Given the description of an element on the screen output the (x, y) to click on. 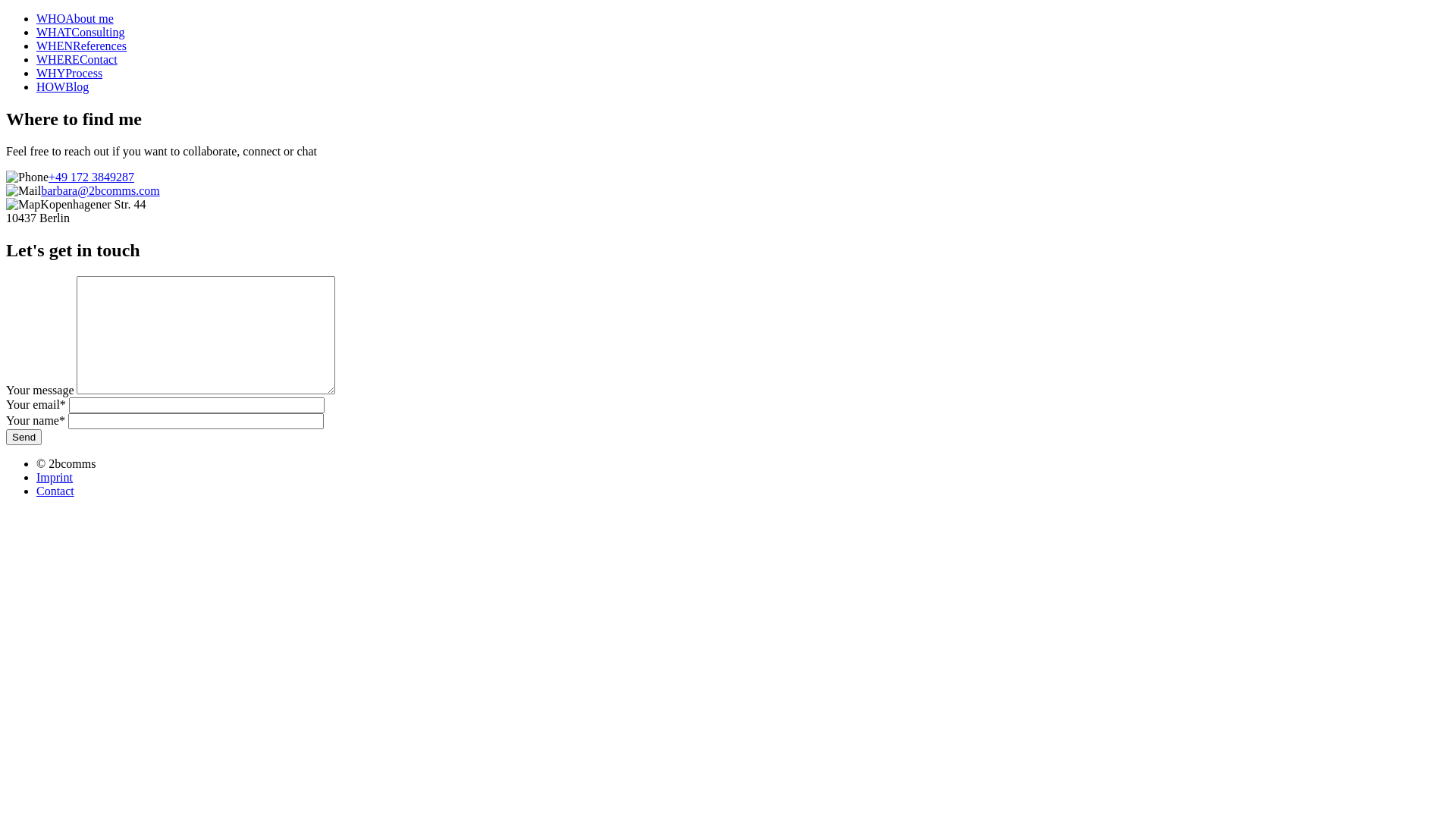
Imprint Element type: text (54, 476)
WHOAbout me Element type: text (74, 18)
HOWBlog Element type: text (62, 86)
WHATConsulting Element type: text (80, 31)
+49 172 3849287 Element type: text (91, 176)
WHYProcess Element type: text (69, 72)
WHEREContact Element type: text (76, 59)
Send Element type: text (23, 437)
Contact Element type: text (55, 490)
barbara@2bcomms.com Element type: text (99, 190)
WHENReferences Element type: text (81, 45)
